Given the description of an element on the screen output the (x, y) to click on. 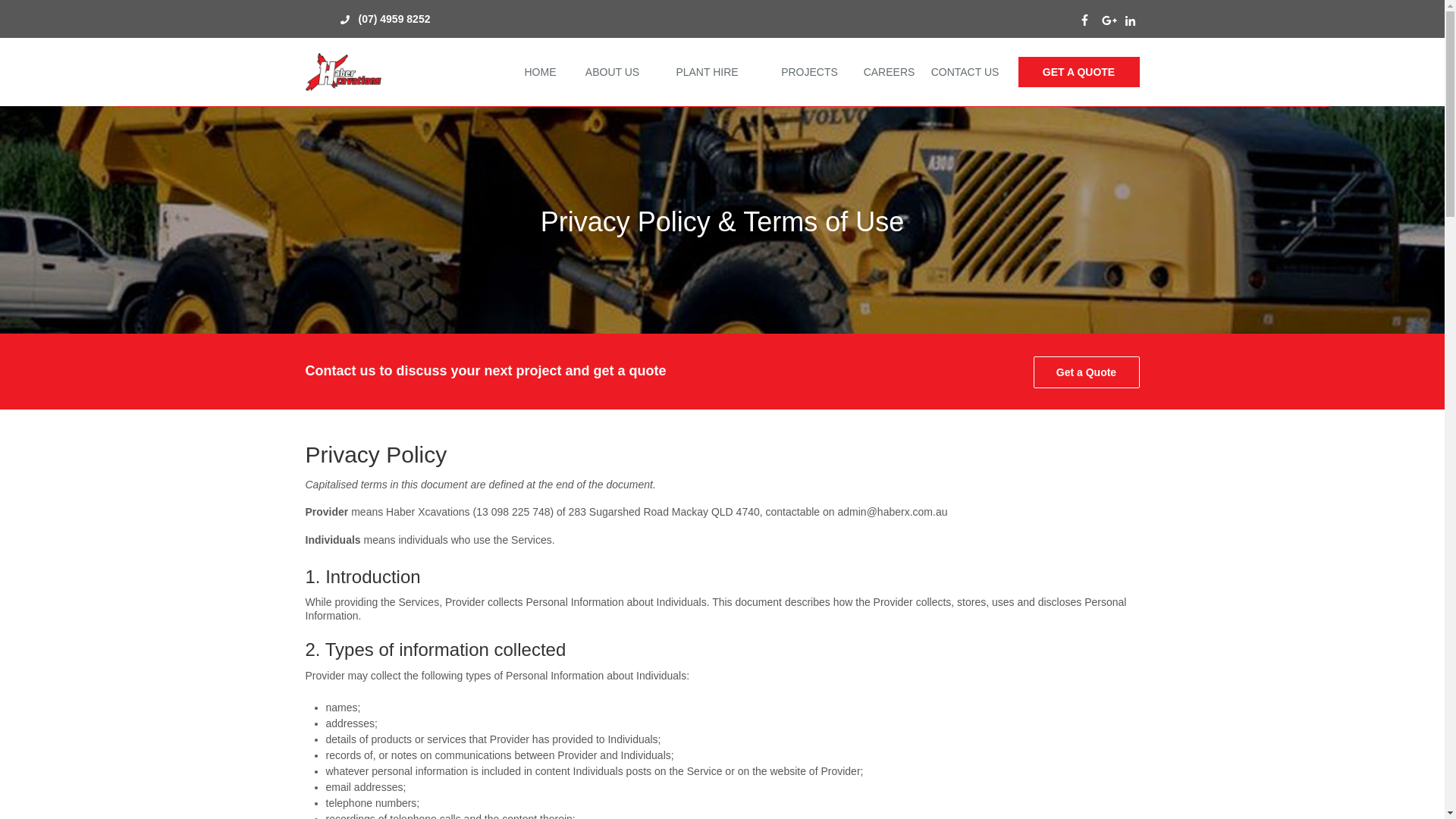
Get a Quote Element type: text (1085, 372)
ABOUT US Element type: text (611, 71)
PLANT HIRE Element type: text (706, 71)
HOME Element type: text (539, 71)
(07) 4959 8252 Element type: text (402, 18)
CAREERS Element type: text (888, 71)
PROJECTS Element type: text (809, 71)
GET A QUOTE Element type: text (1078, 71)
CONTACT US Element type: text (964, 71)
